Given the description of an element on the screen output the (x, y) to click on. 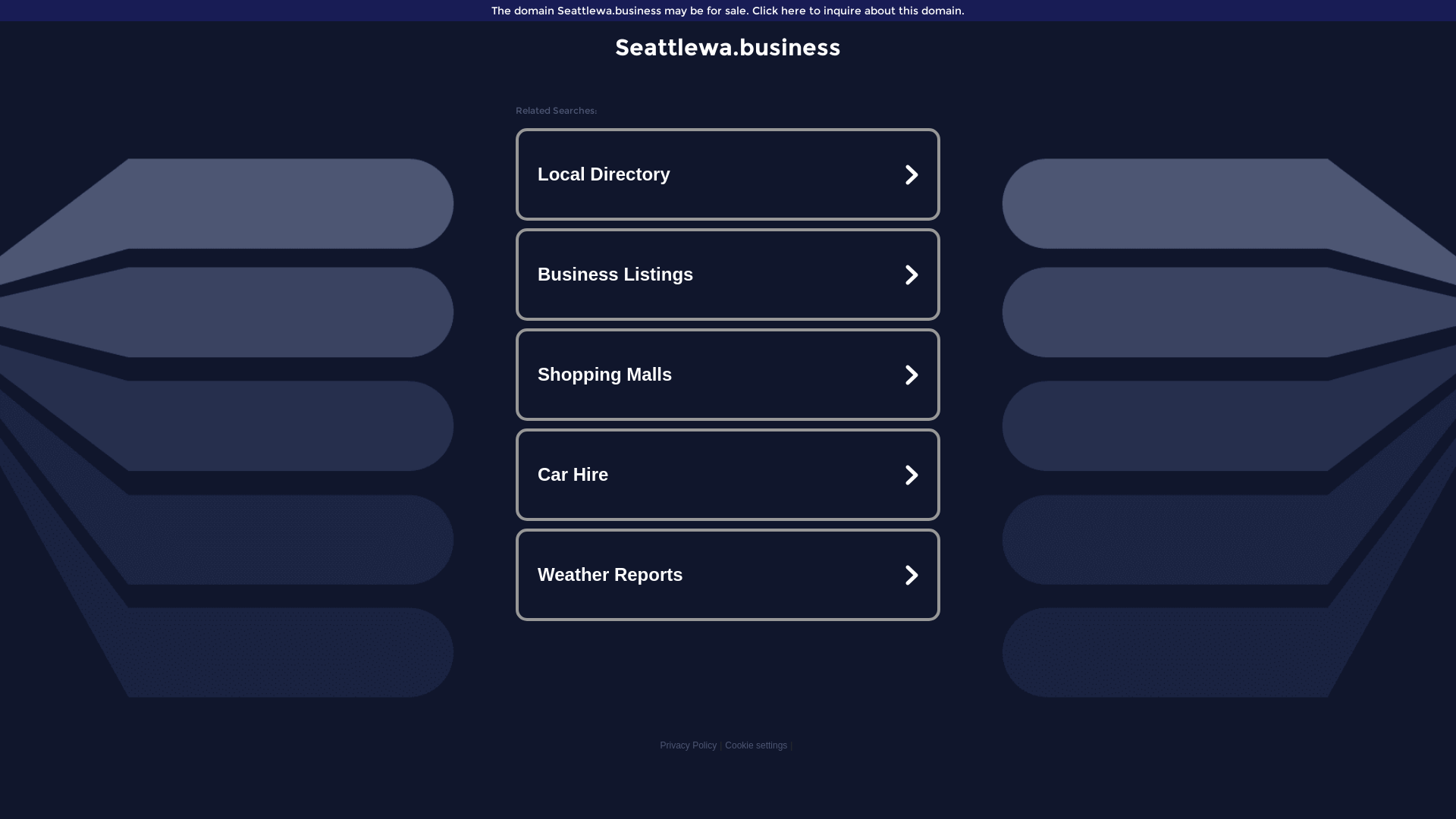
Weather Reports Element type: text (727, 574)
Local Directory Element type: text (727, 174)
Shopping Malls Element type: text (727, 374)
Cookie settings Element type: text (755, 745)
Seattlewa.business Element type: text (727, 47)
Car Hire Element type: text (727, 474)
Privacy Policy Element type: text (687, 745)
Business Listings Element type: text (727, 274)
